Given the description of an element on the screen output the (x, y) to click on. 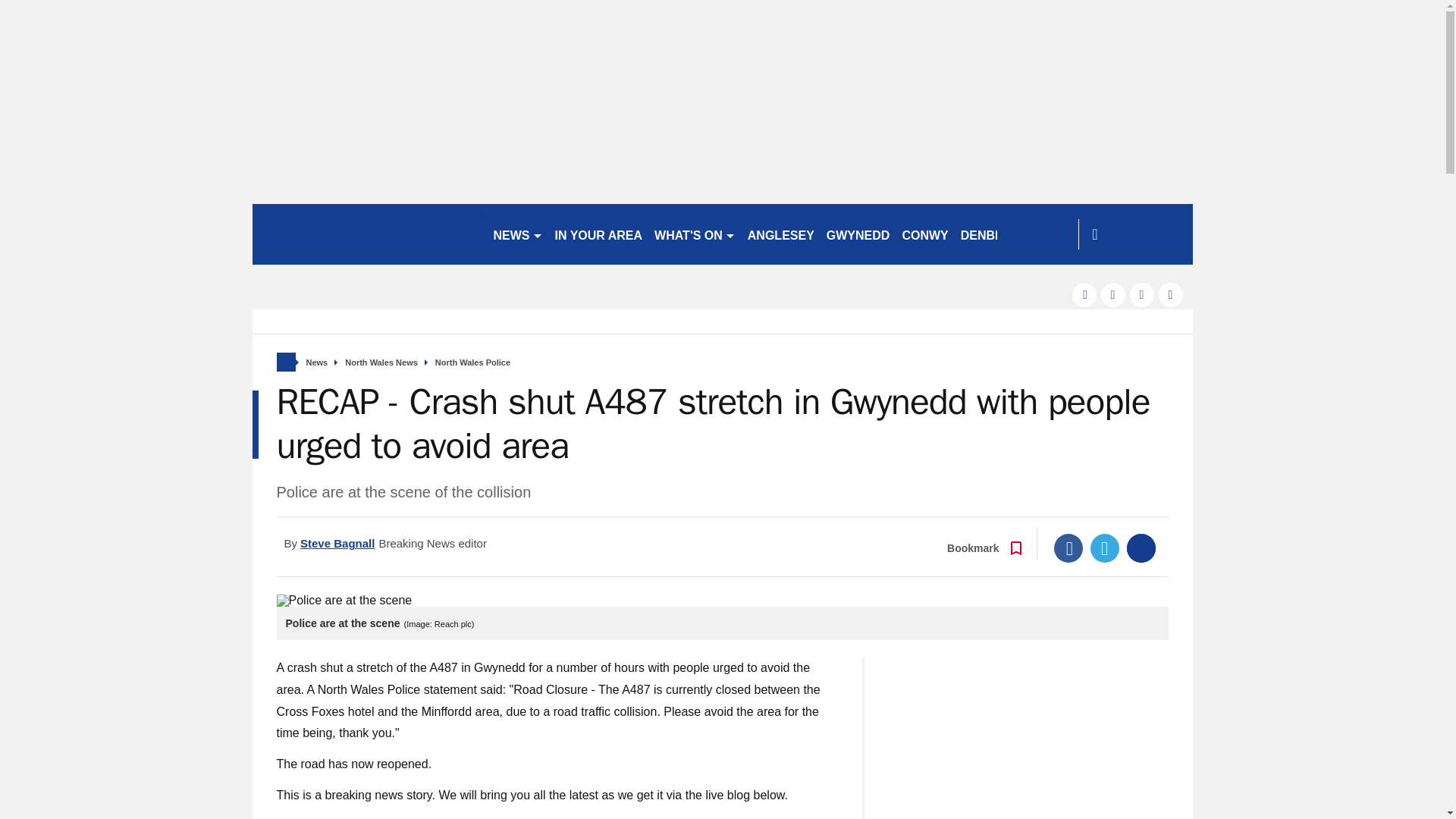
GWYNEDD (858, 233)
IN YOUR AREA (598, 233)
instagram (1170, 294)
NEWS (517, 233)
pinterest (1141, 294)
ANGLESEY (781, 233)
DENBIGHSHIRE (1007, 233)
Twitter (1104, 547)
twitter (1112, 294)
facebook (1083, 294)
